Given the description of an element on the screen output the (x, y) to click on. 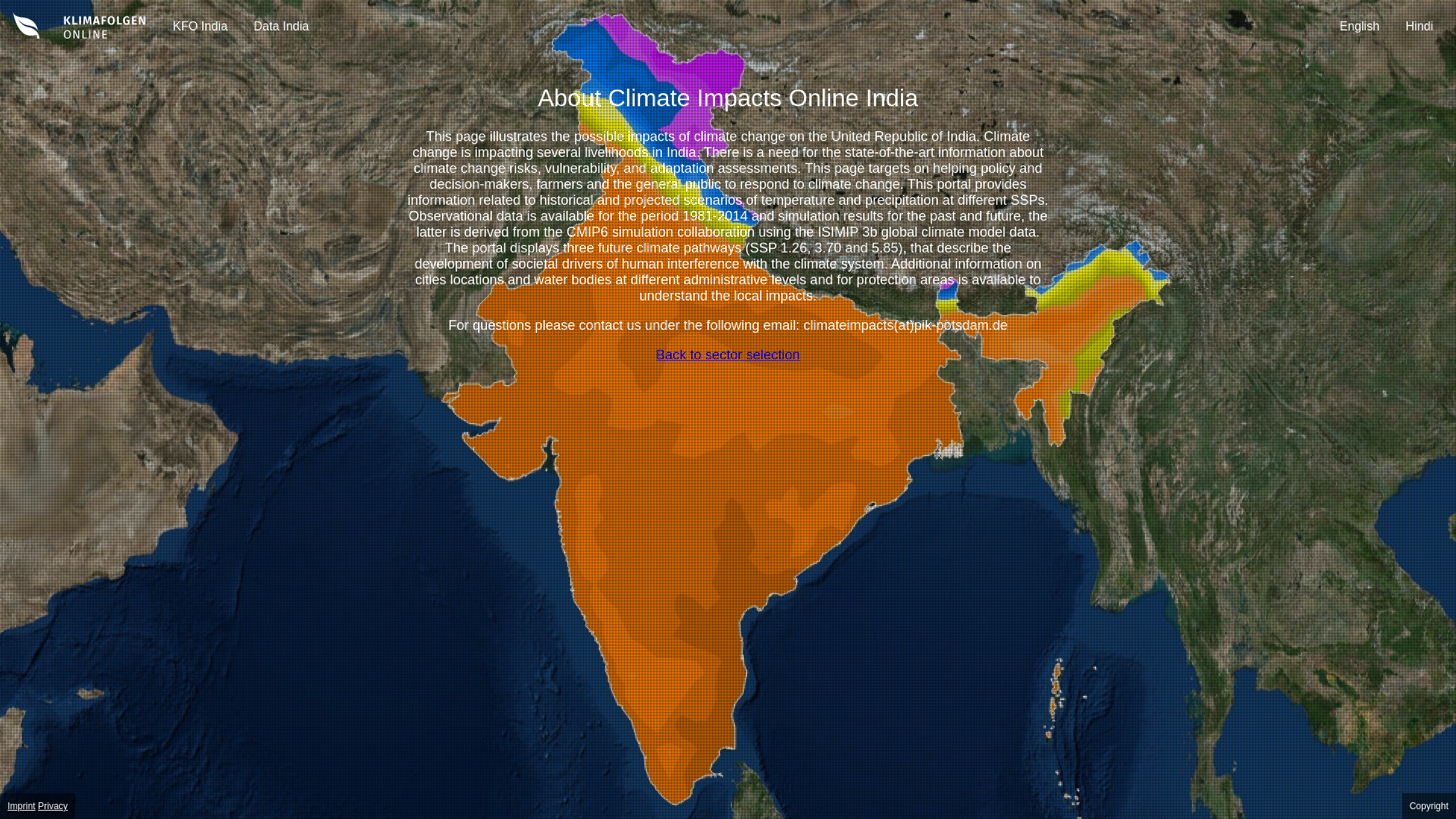
KFO India (200, 25)
Privacy (51, 805)
Hindi (1419, 25)
Back to sector selection (727, 354)
English (1358, 25)
Imprint (20, 805)
Data India (280, 25)
